Given the description of an element on the screen output the (x, y) to click on. 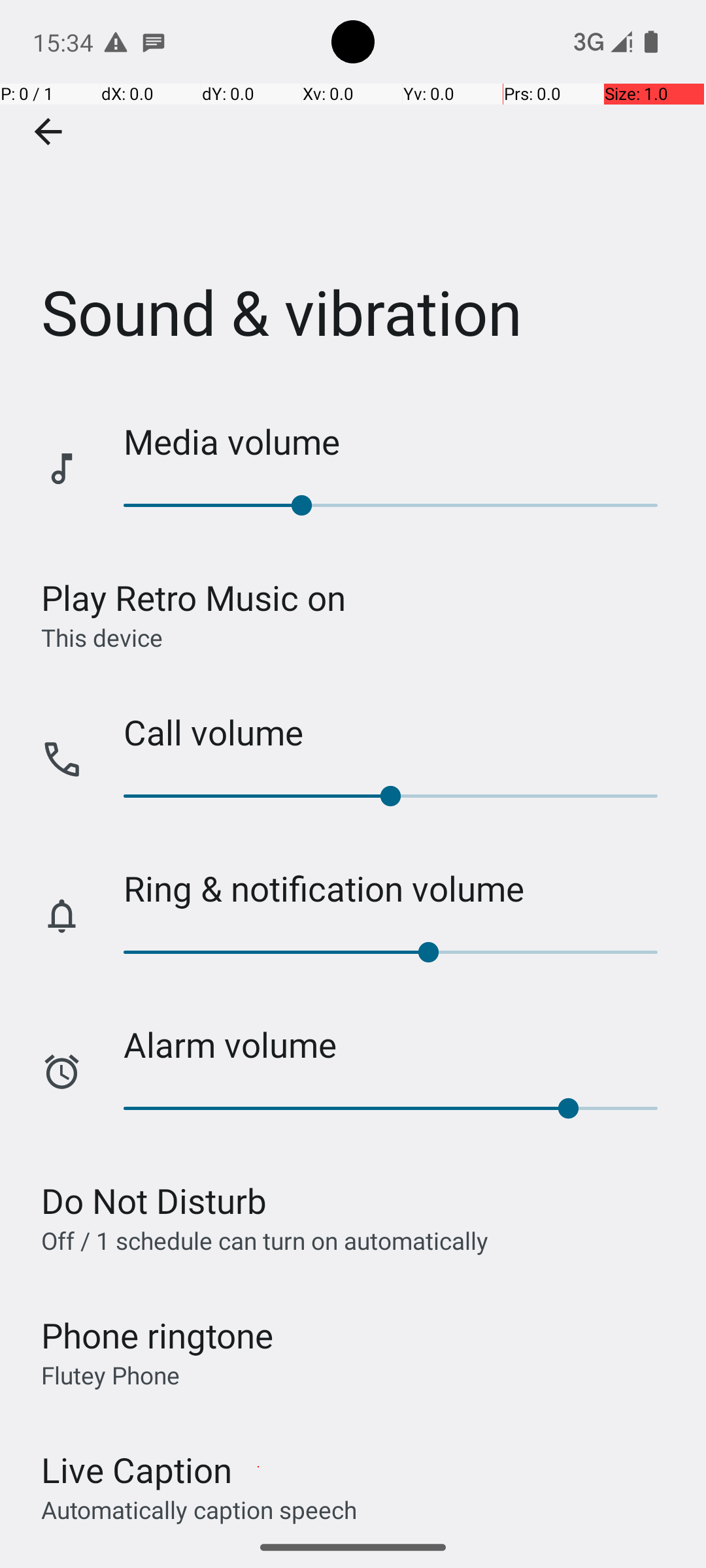
Media volume Element type: android.widget.TextView (400, 441)
Play Retro Music on Element type: android.widget.TextView (193, 597)
This device Element type: android.widget.TextView (101, 636)
Call volume Element type: android.widget.TextView (400, 731)
Ring & notification volume Element type: android.widget.TextView (400, 888)
Alarm volume Element type: android.widget.TextView (400, 1044)
Do Not Disturb Element type: android.widget.TextView (153, 1200)
Off / 1 schedule can turn on automatically Element type: android.widget.TextView (264, 1240)
Phone ringtone Element type: android.widget.TextView (157, 1334)
Flutey Phone Element type: android.widget.TextView (110, 1374)
Live Caption Element type: android.widget.TextView (136, 1469)
Automatically caption speech Element type: android.widget.TextView (199, 1509)
